Given the description of an element on the screen output the (x, y) to click on. 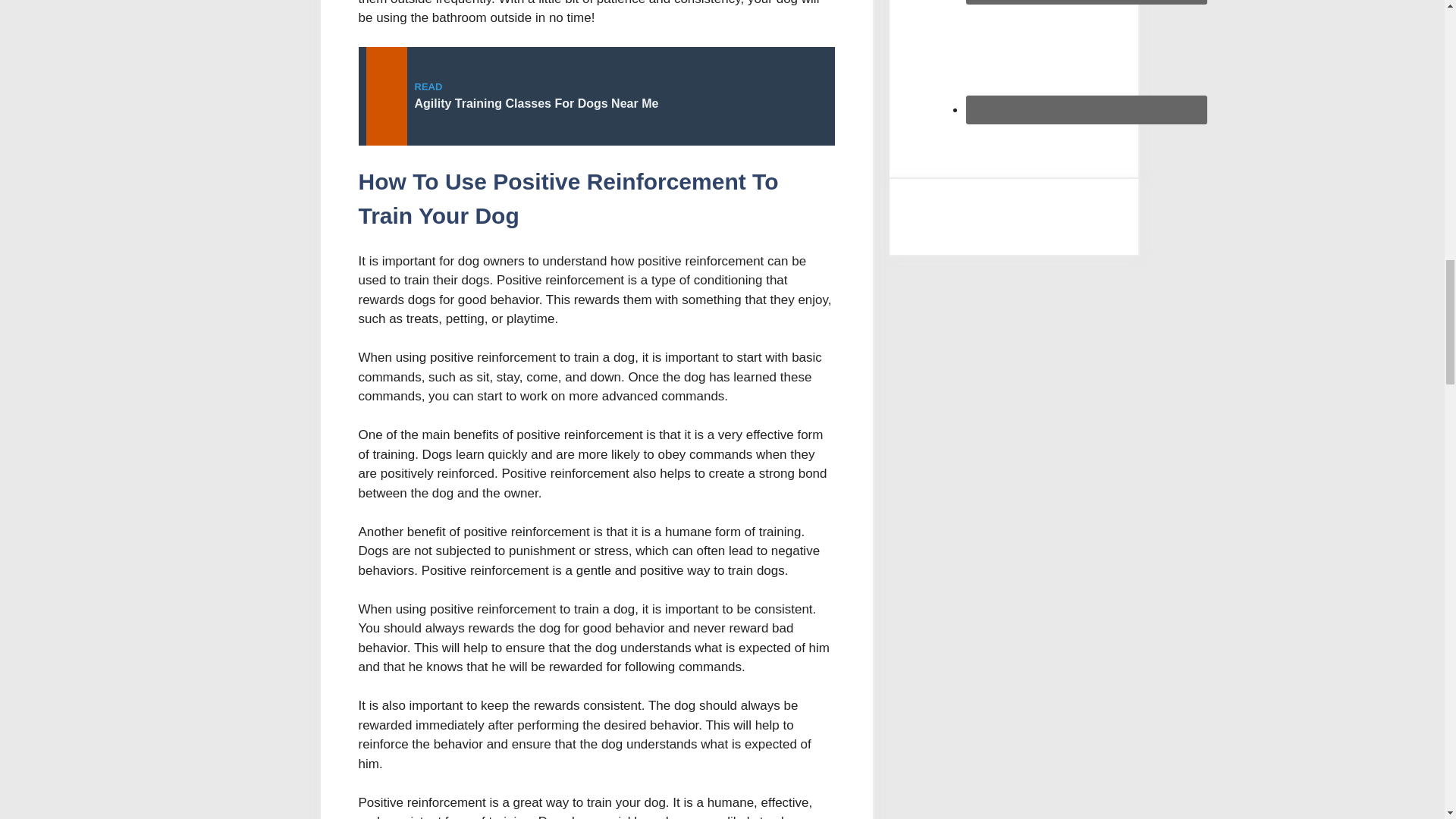
RSS (1085, 57)
